Given the description of an element on the screen output the (x, y) to click on. 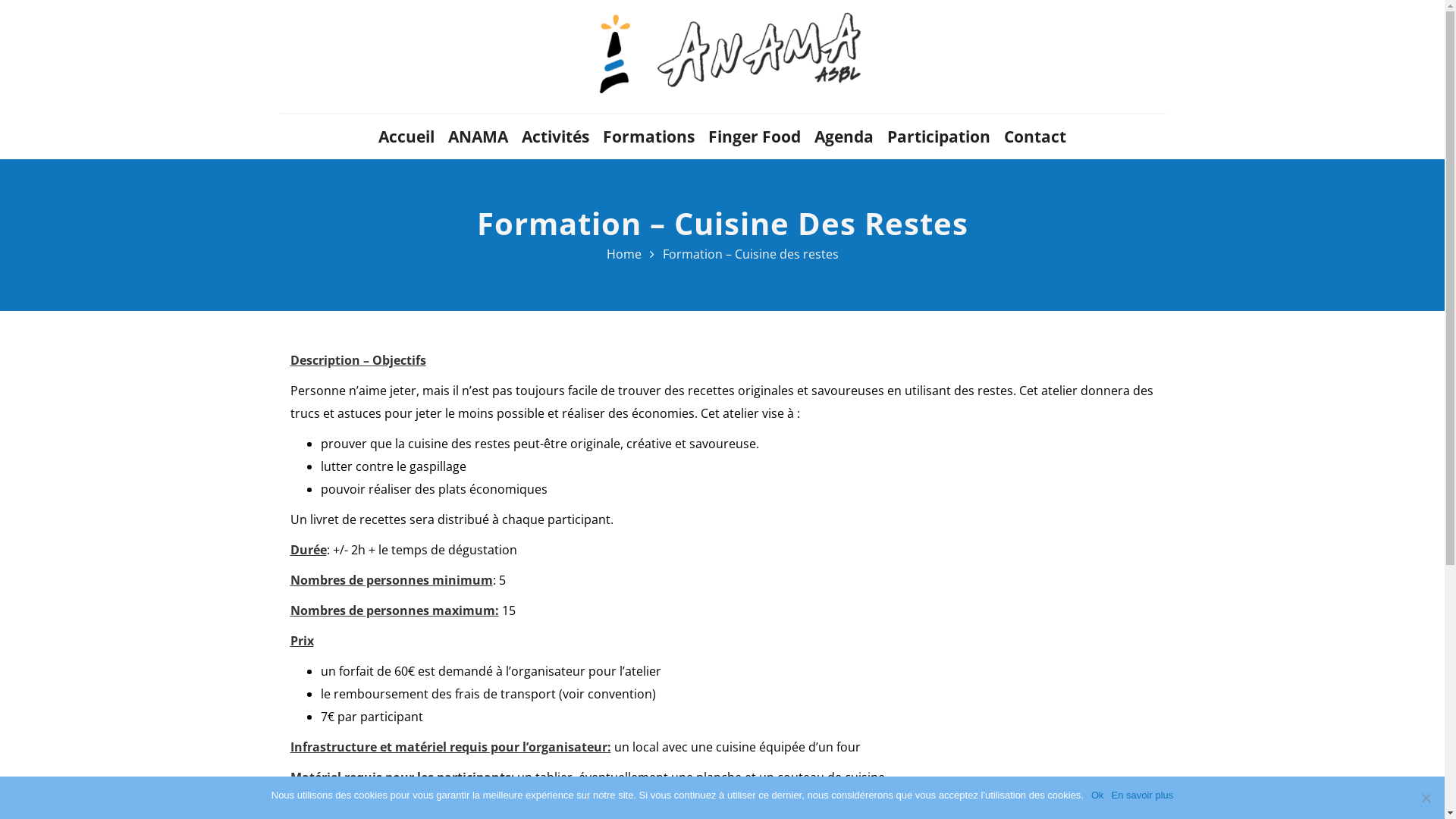
ANAMA Element type: text (478, 136)
Formations Element type: text (648, 136)
En savoir plus Element type: text (1142, 795)
Participation Element type: text (938, 136)
Home Element type: text (623, 253)
Non Element type: hover (1425, 797)
Ok Element type: text (1097, 795)
Contact Element type: text (1035, 136)
Finger Food Element type: text (754, 136)
Agenda Element type: text (843, 136)
Accueil Element type: text (406, 136)
